Given the description of an element on the screen output the (x, y) to click on. 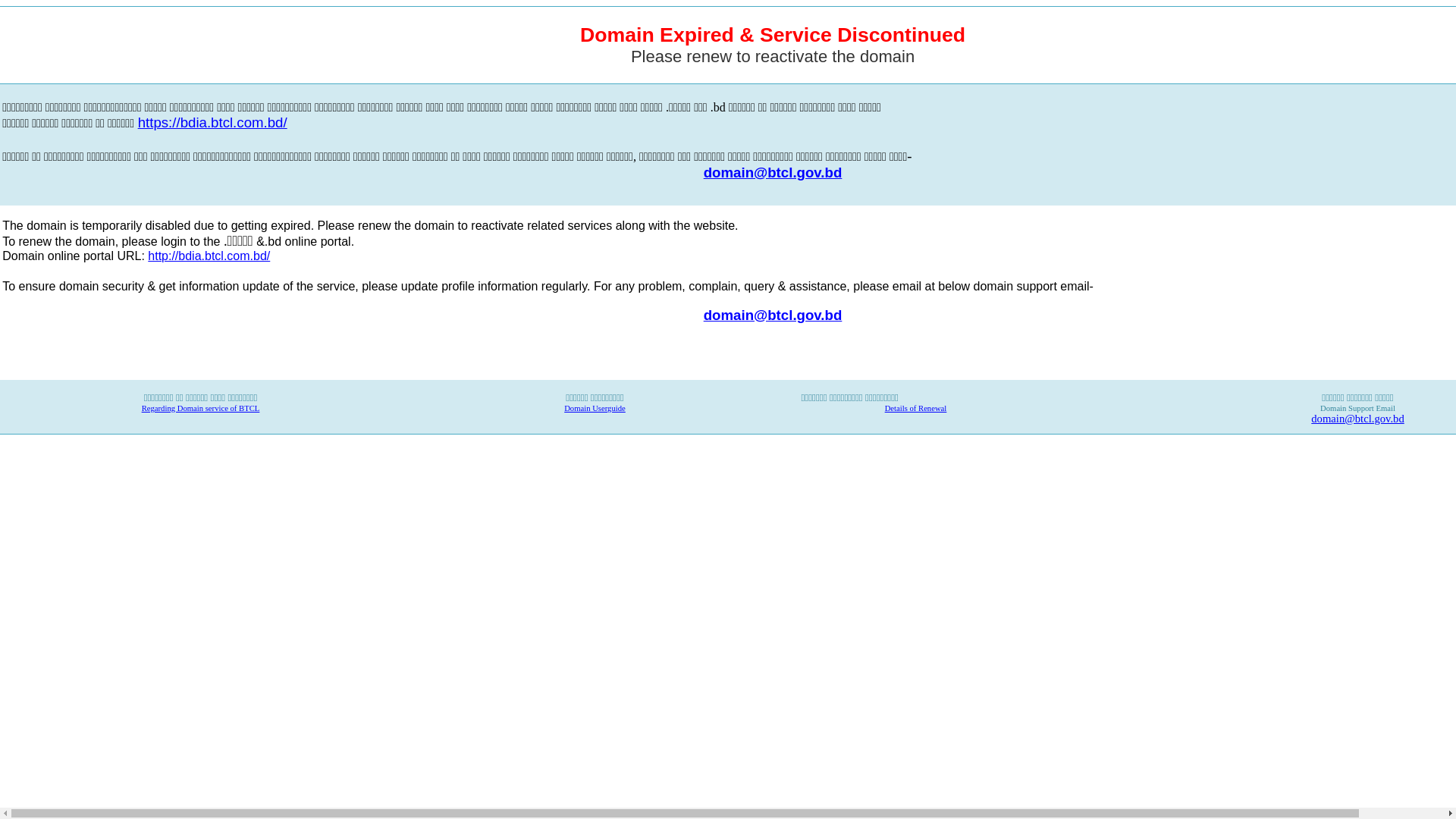
domain@btcl.gov.bd Element type: text (772, 314)
Regarding Domain service of BTCL Element type: text (200, 408)
domain@btcl.gov.bd Element type: text (772, 172)
Details of Renewal Element type: text (915, 408)
https://bdia.btcl.com.bd/ Element type: text (212, 123)
domain@btcl.gov.bd Element type: text (1357, 418)
Domain Userguide Element type: text (594, 408)
http://bdia.btcl.com.bd/ Element type: text (208, 256)
